Given the description of an element on the screen output the (x, y) to click on. 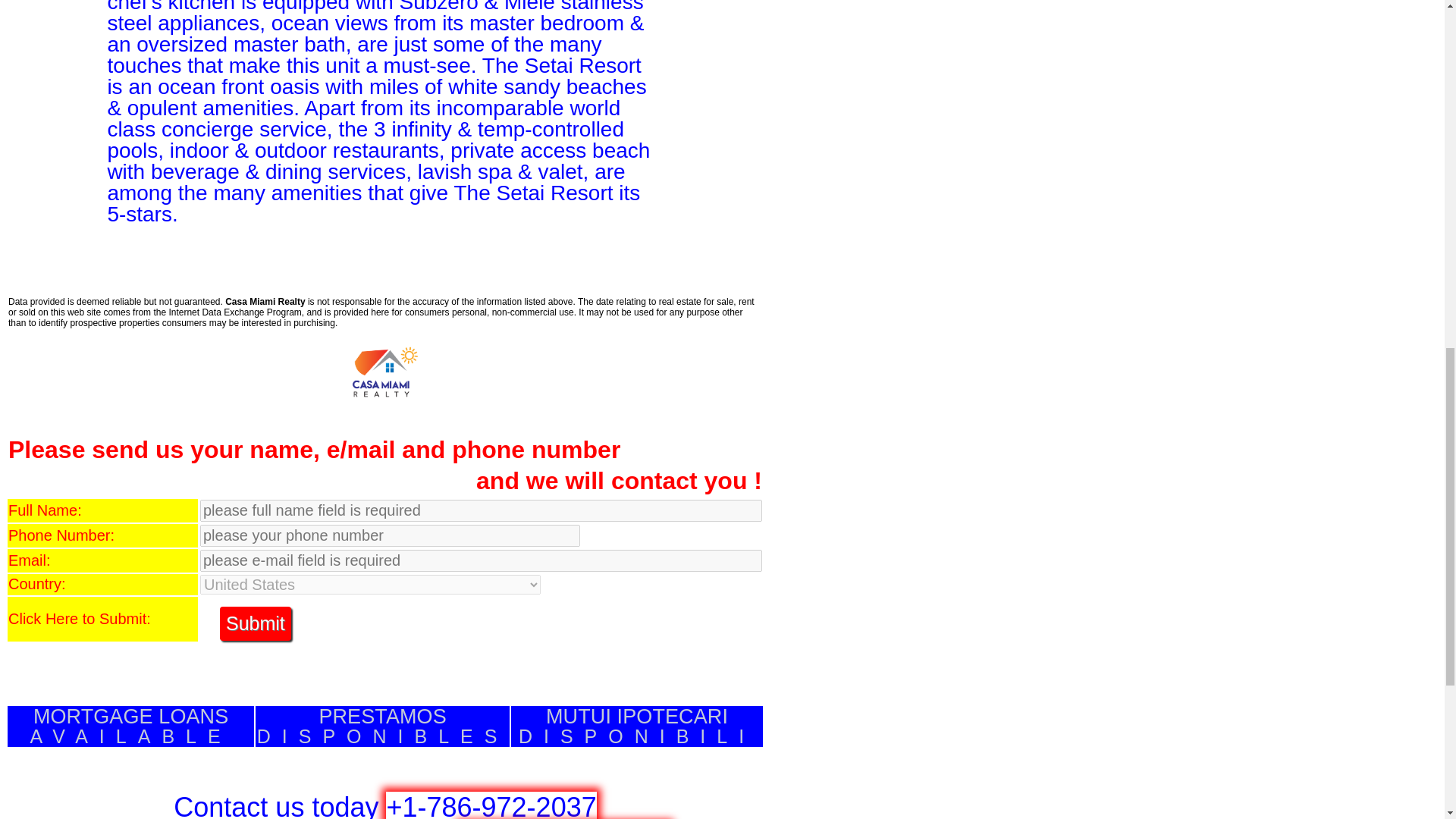
Submit (382, 726)
Submit (255, 623)
